Given the description of an element on the screen output the (x, y) to click on. 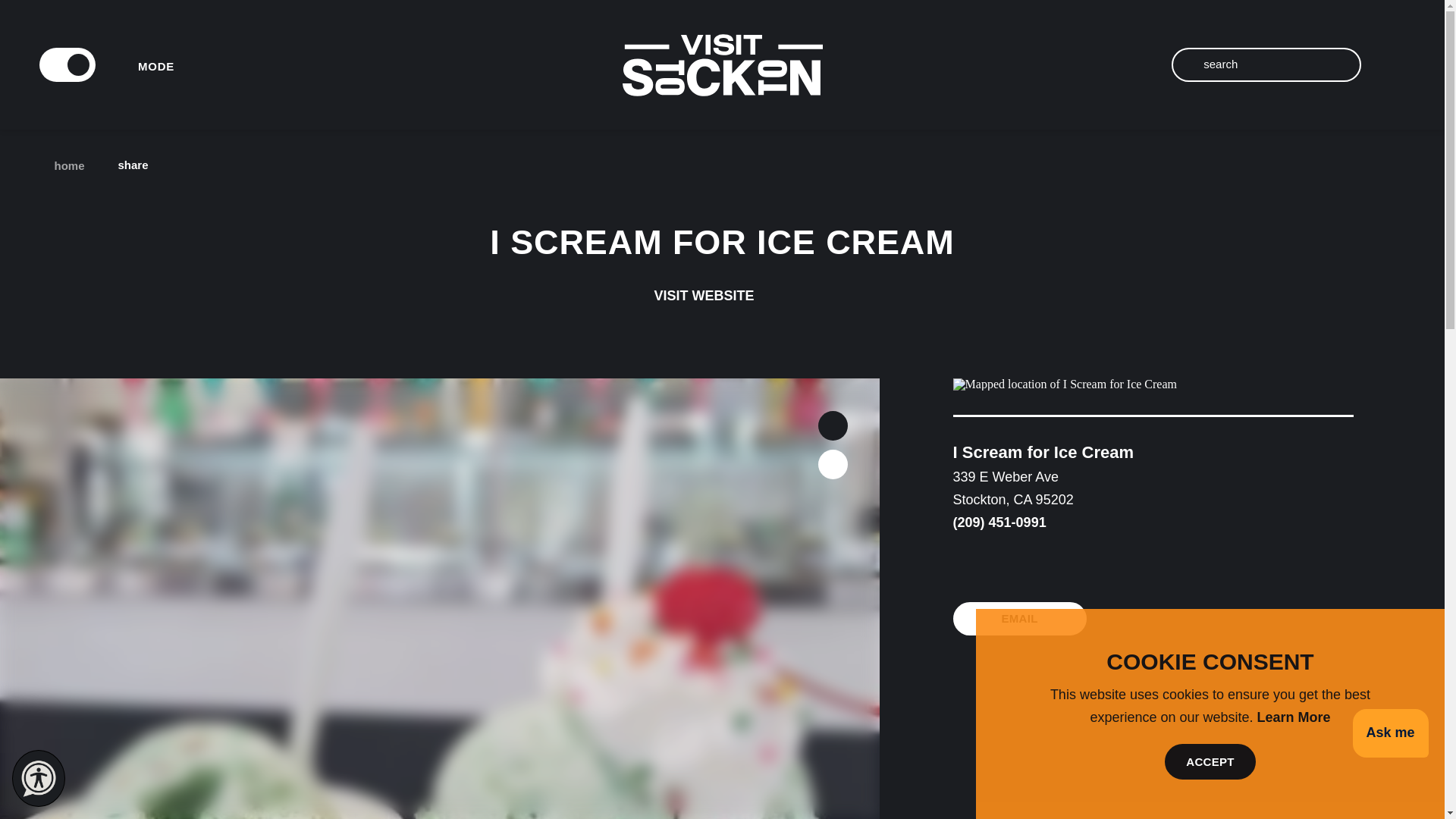
VISIT WEBSITE (721, 295)
home (64, 165)
ACCEPT (1210, 761)
Learn More (1293, 717)
Skip to content (57, 15)
share (144, 165)
EMAIL (1019, 618)
Ask me (1390, 733)
